Given the description of an element on the screen output the (x, y) to click on. 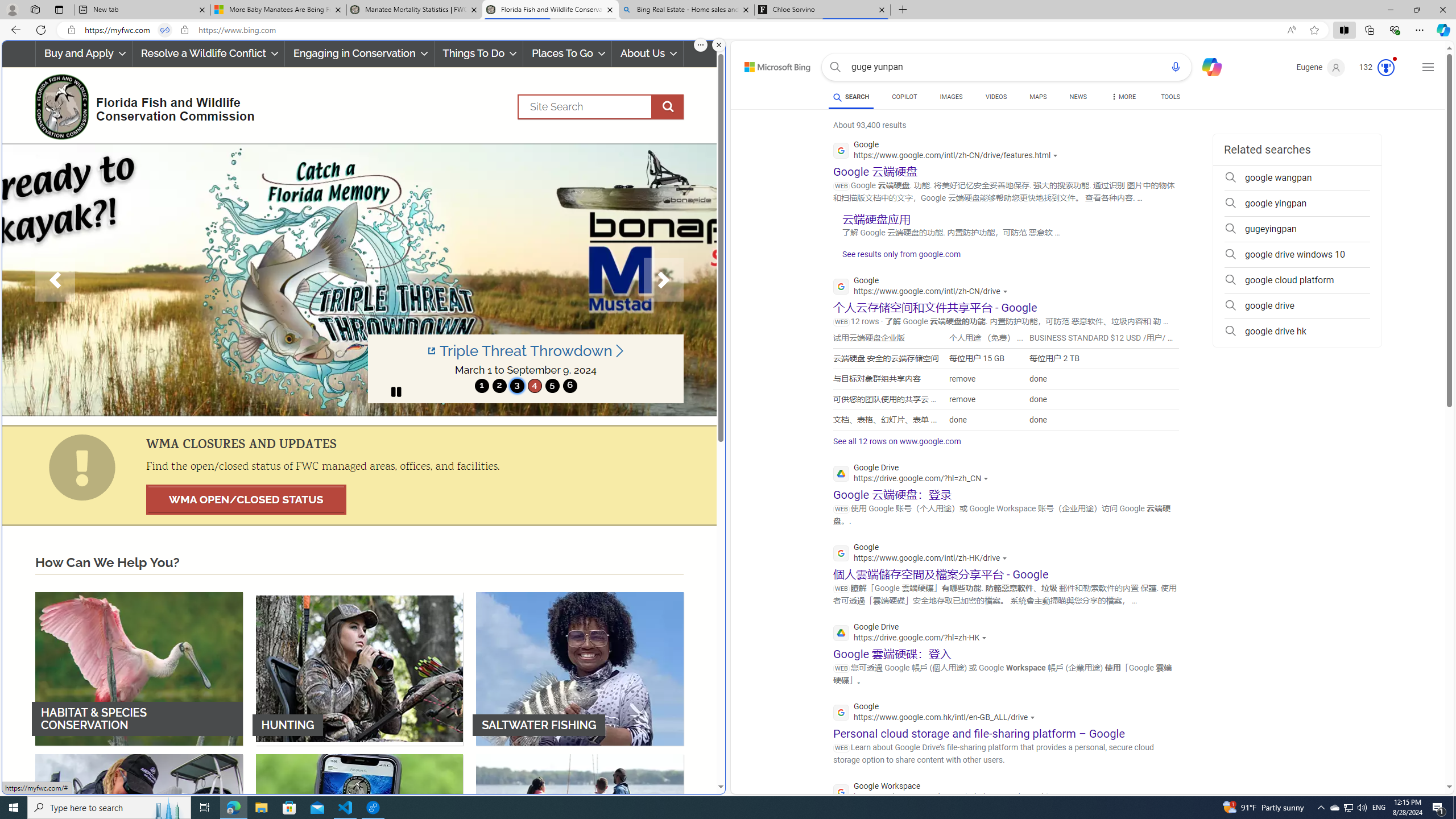
IMAGES (950, 98)
Bing Real Estate - Home sales and rental listings (685, 9)
HABITAT & SPECIES CONSERVATION (138, 668)
About Us (647, 53)
Search (600, 106)
Places To Go (566, 53)
FWC Logo (61, 106)
google drive hk (1297, 331)
Triple Threat Throwdown  (526, 351)
MAPS (1038, 98)
MORE (1123, 98)
move to slide 5 (551, 385)
MAPS (1038, 96)
Copilot (Ctrl+Shift+.) (1442, 29)
